Given the description of an element on the screen output the (x, y) to click on. 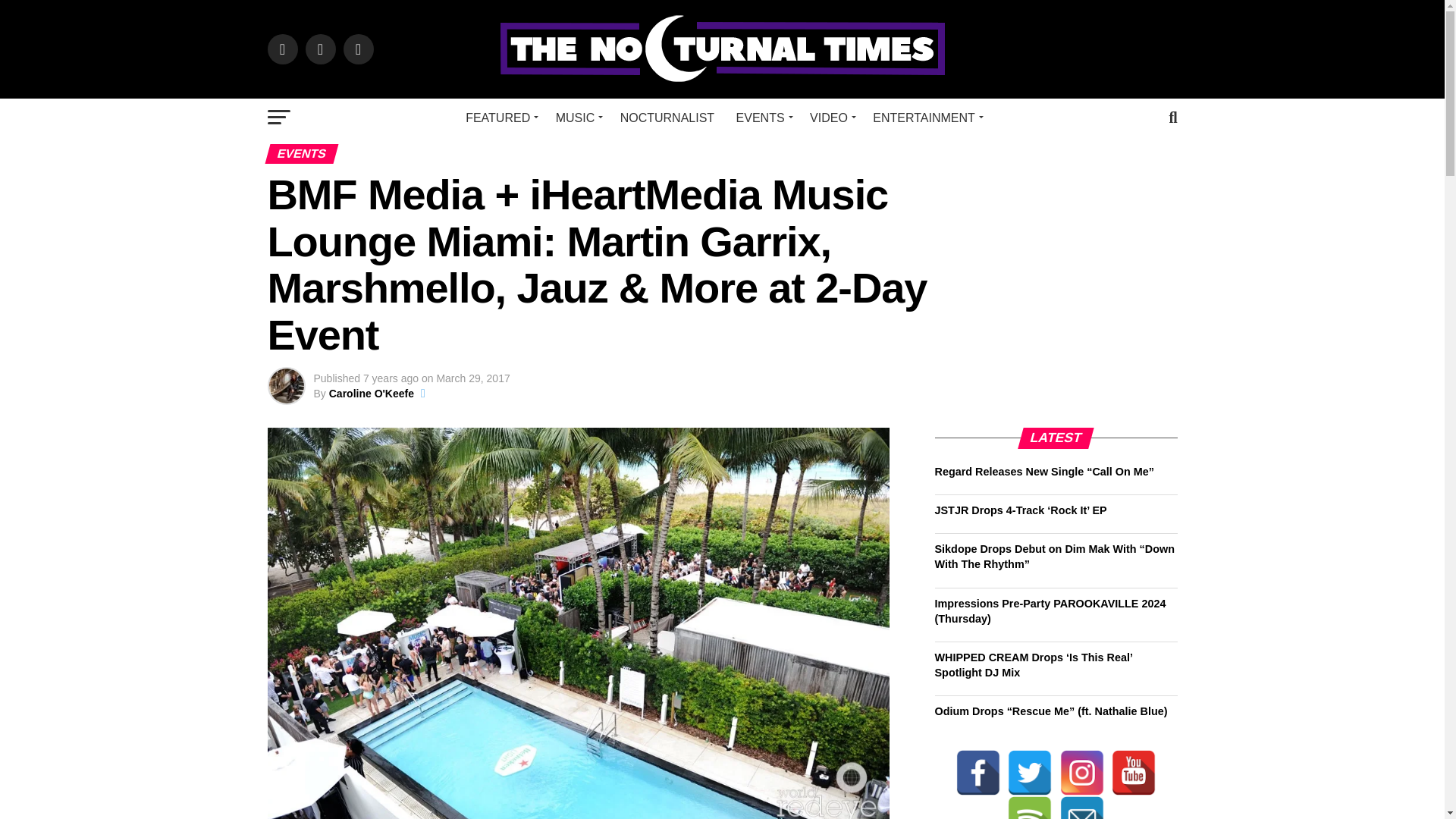
Posts by Caroline O'Keefe (371, 393)
